Given the description of an element on the screen output the (x, y) to click on. 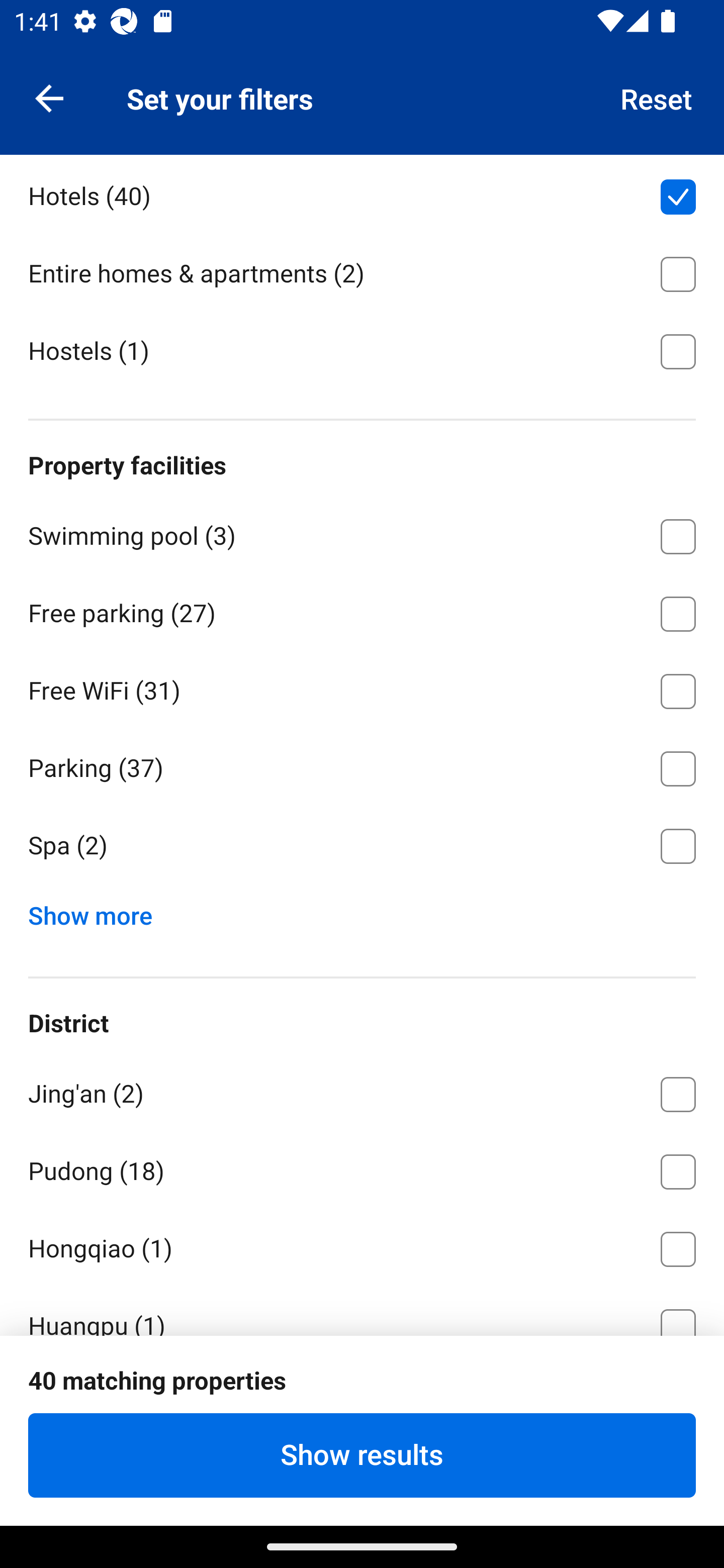
Navigate up (49, 97)
Reset (656, 97)
Hotels ⁦(40) (361, 193)
Entire homes & apartments ⁦(2) (361, 270)
Hostels ⁦(1) (361, 349)
Swimming pool ⁦(3) (361, 532)
Free parking ⁦(27) (361, 610)
Free WiFi ⁦(31) (361, 687)
Parking ⁦(37) (361, 764)
Spa ⁦(2) (361, 846)
Show more (97, 911)
Jing'an ⁦(2) (361, 1091)
Pudong ⁦(18) (361, 1168)
Hongqiao ⁦(1) (361, 1245)
Huangpu ⁦(1) (361, 1309)
Xuhui ⁦(1) (361, 1403)
Show results (361, 1454)
